Given the description of an element on the screen output the (x, y) to click on. 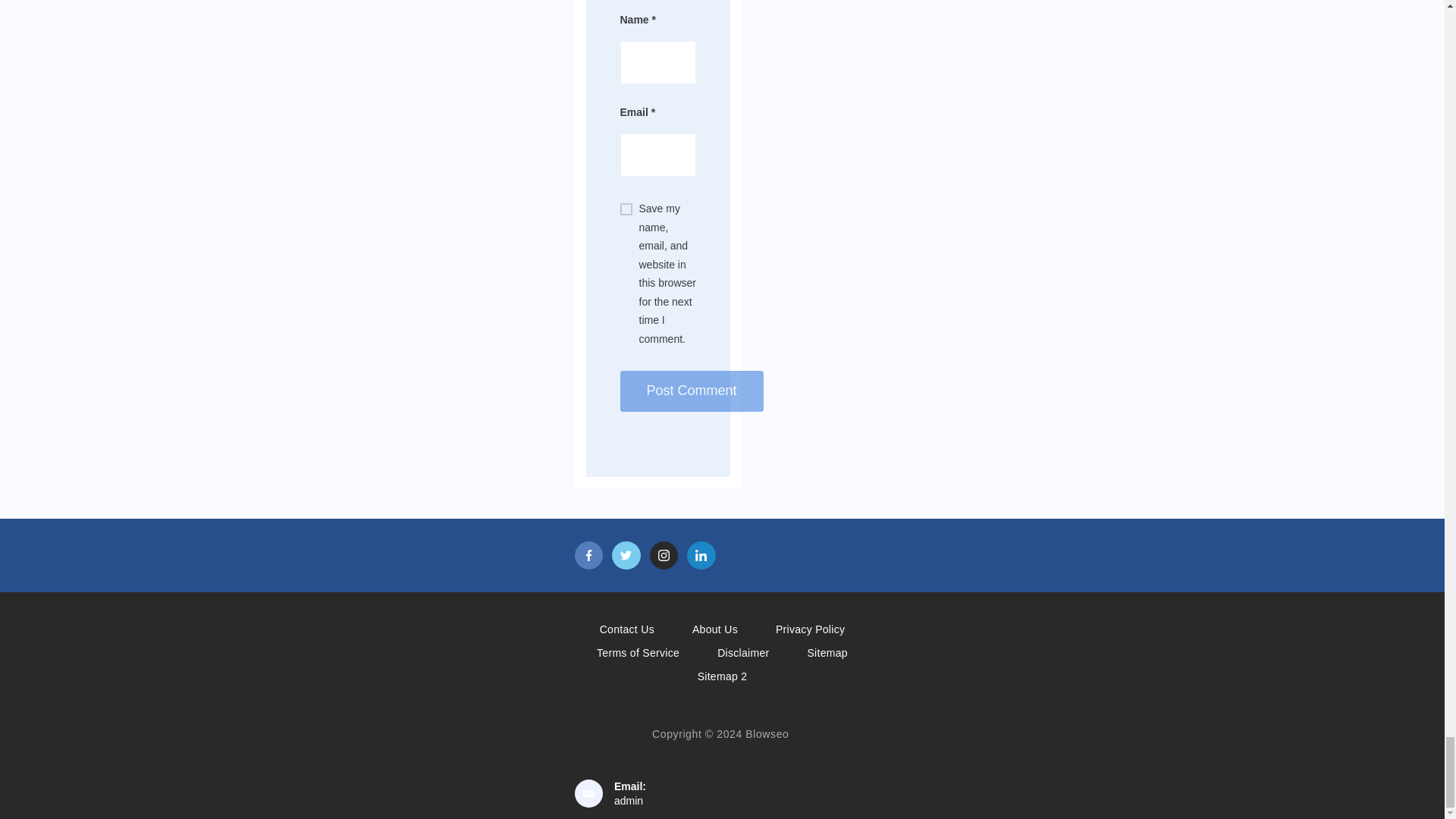
Post Comment (691, 391)
